Given the description of an element on the screen output the (x, y) to click on. 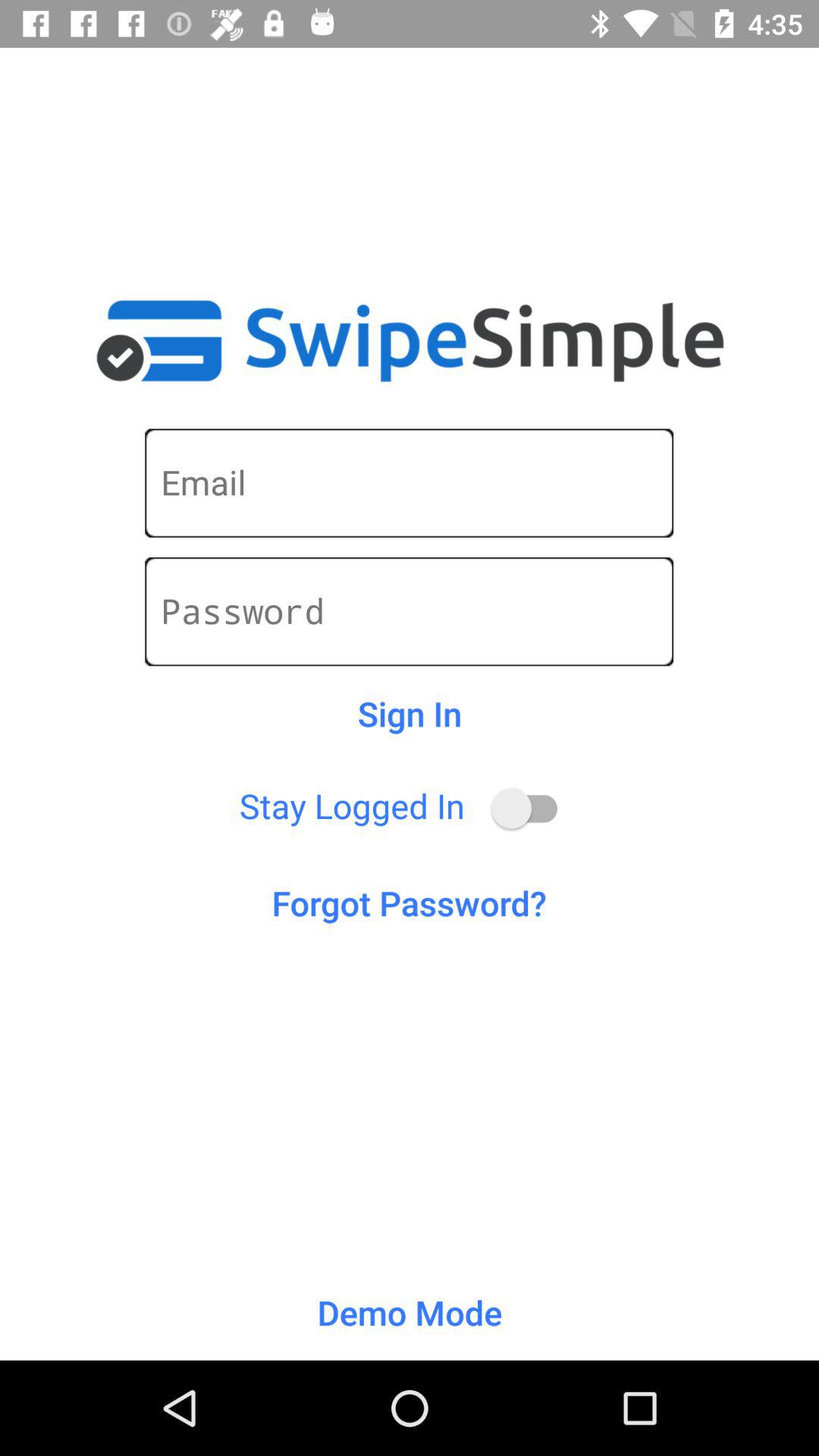
scroll until the forgot password? item (408, 902)
